Given the description of an element on the screen output the (x, y) to click on. 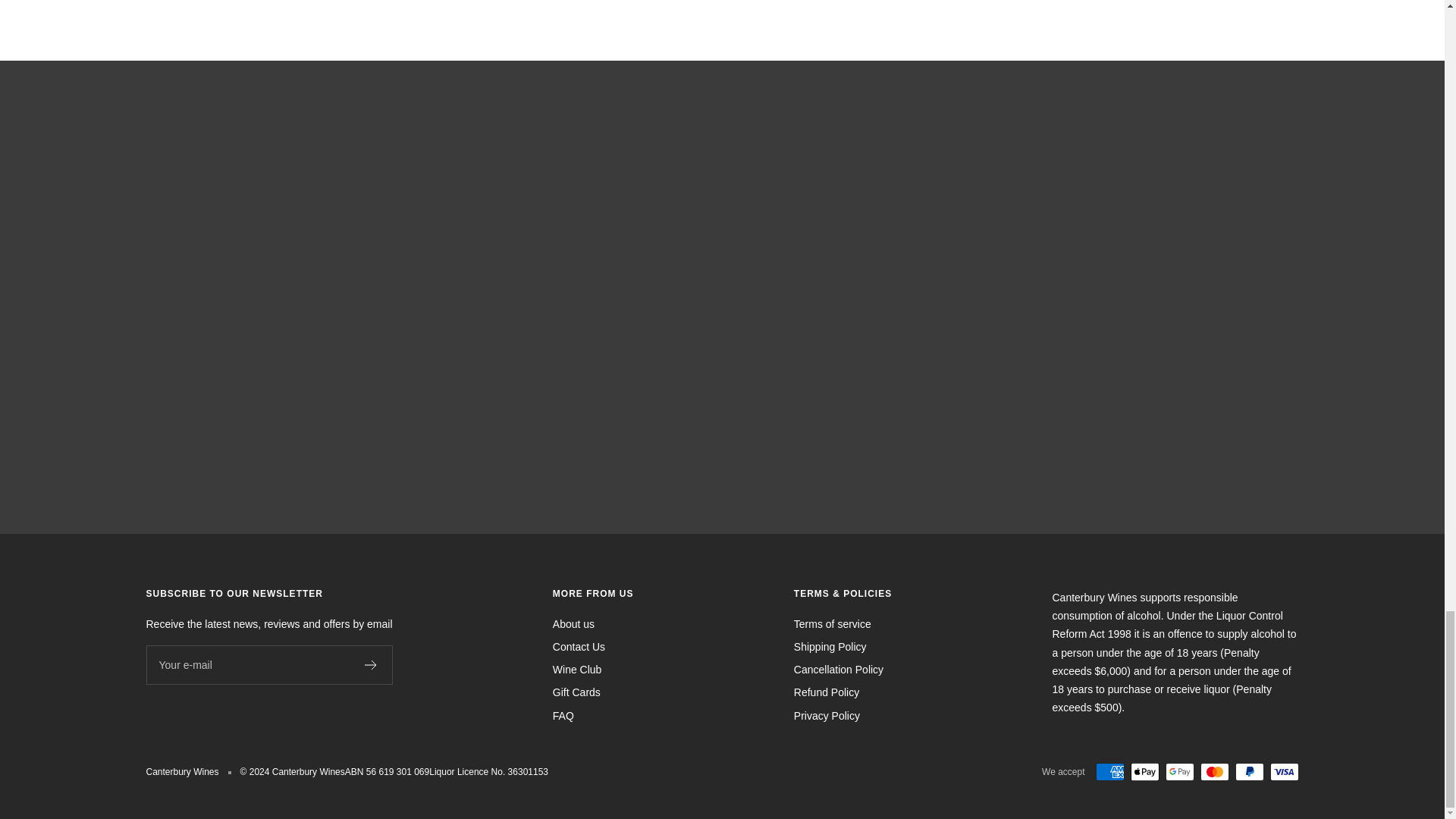
Register (370, 665)
